Given the description of an element on the screen output the (x, y) to click on. 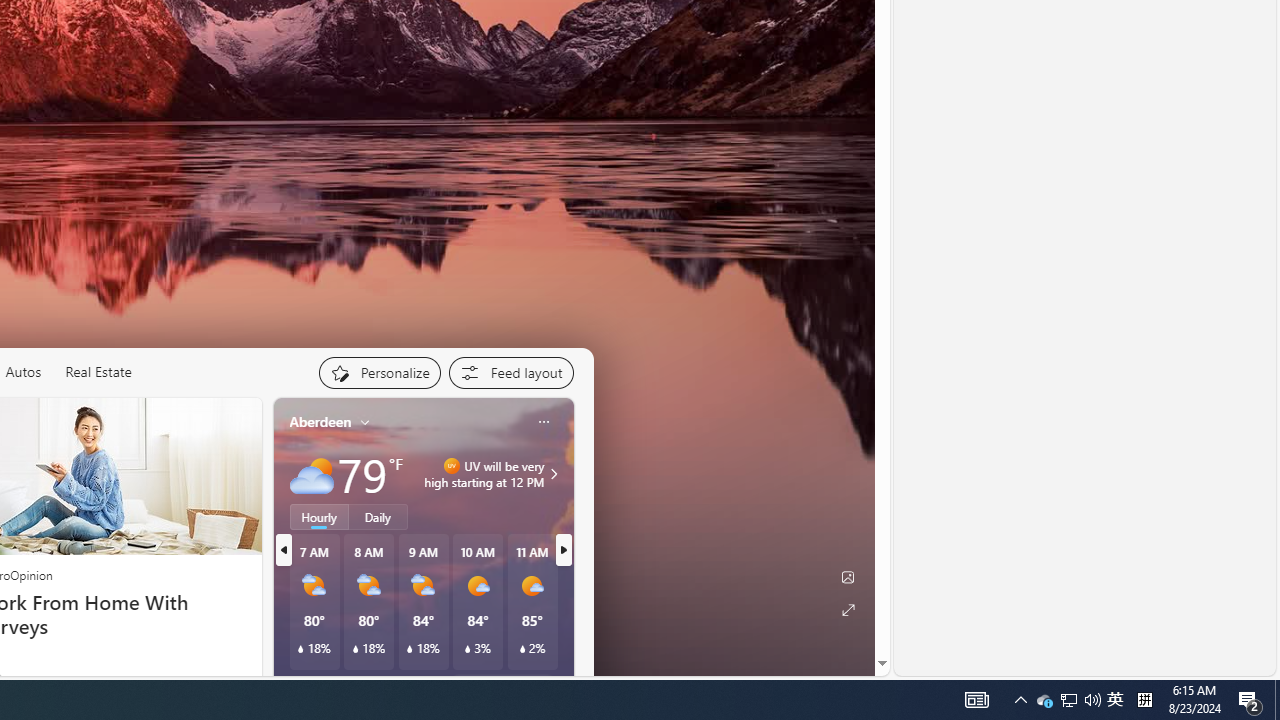
Class: icon-img (543, 421)
Feed settings (510, 372)
Personalize your feed" (379, 372)
Daily (378, 516)
Class: weather-arrow-glyph (554, 474)
Mostly cloudy (311, 474)
Autos (22, 371)
